Given the description of an element on the screen output the (x, y) to click on. 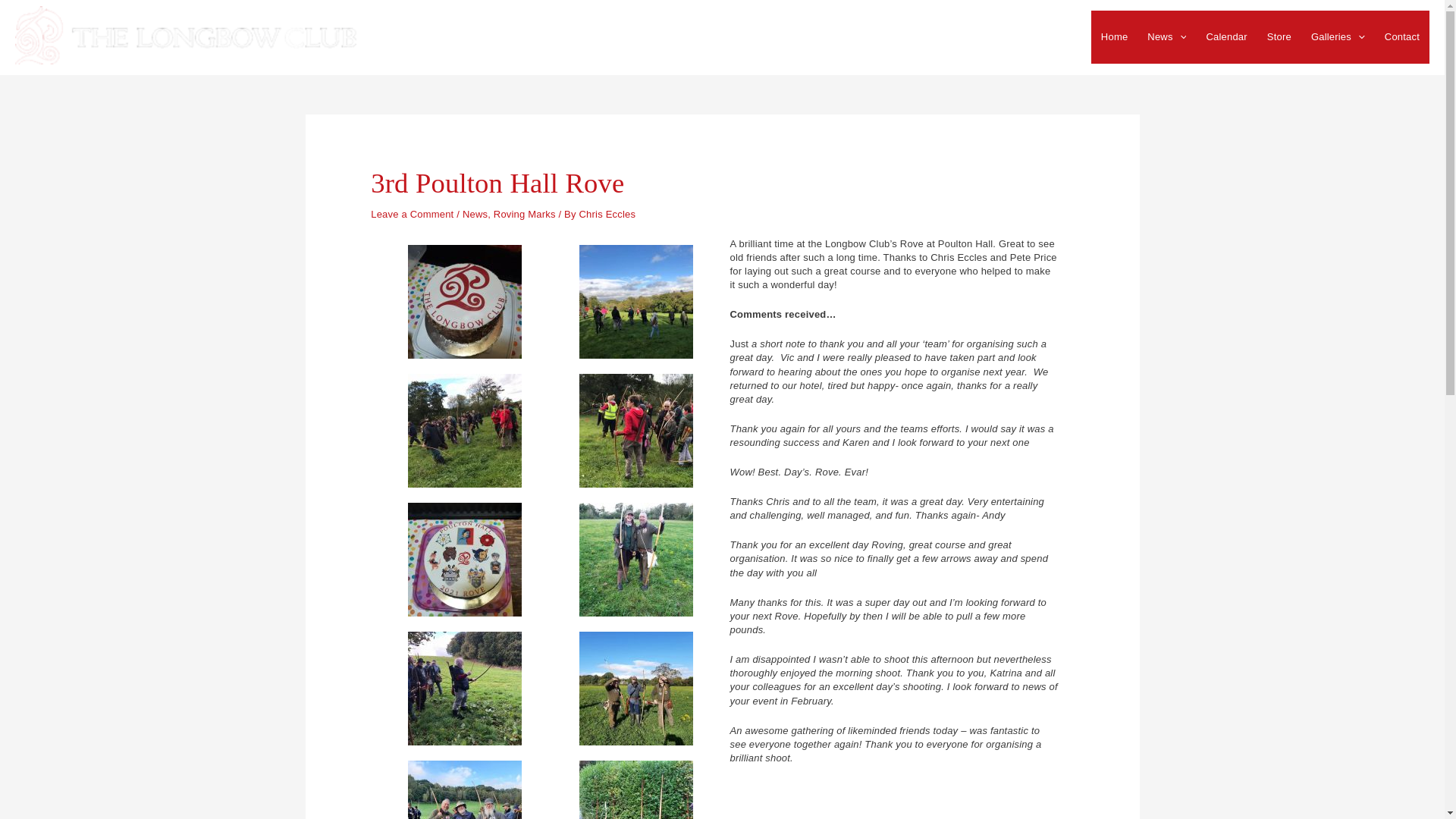
Store (1279, 36)
Leave a Comment (411, 214)
Galleries (1337, 36)
Chris Eccles (607, 214)
Contact (1401, 36)
News (1166, 36)
View all posts by Chris Eccles (607, 214)
News (475, 214)
Calendar (1225, 36)
Home (1113, 36)
Roving Marks (524, 214)
